Given the description of an element on the screen output the (x, y) to click on. 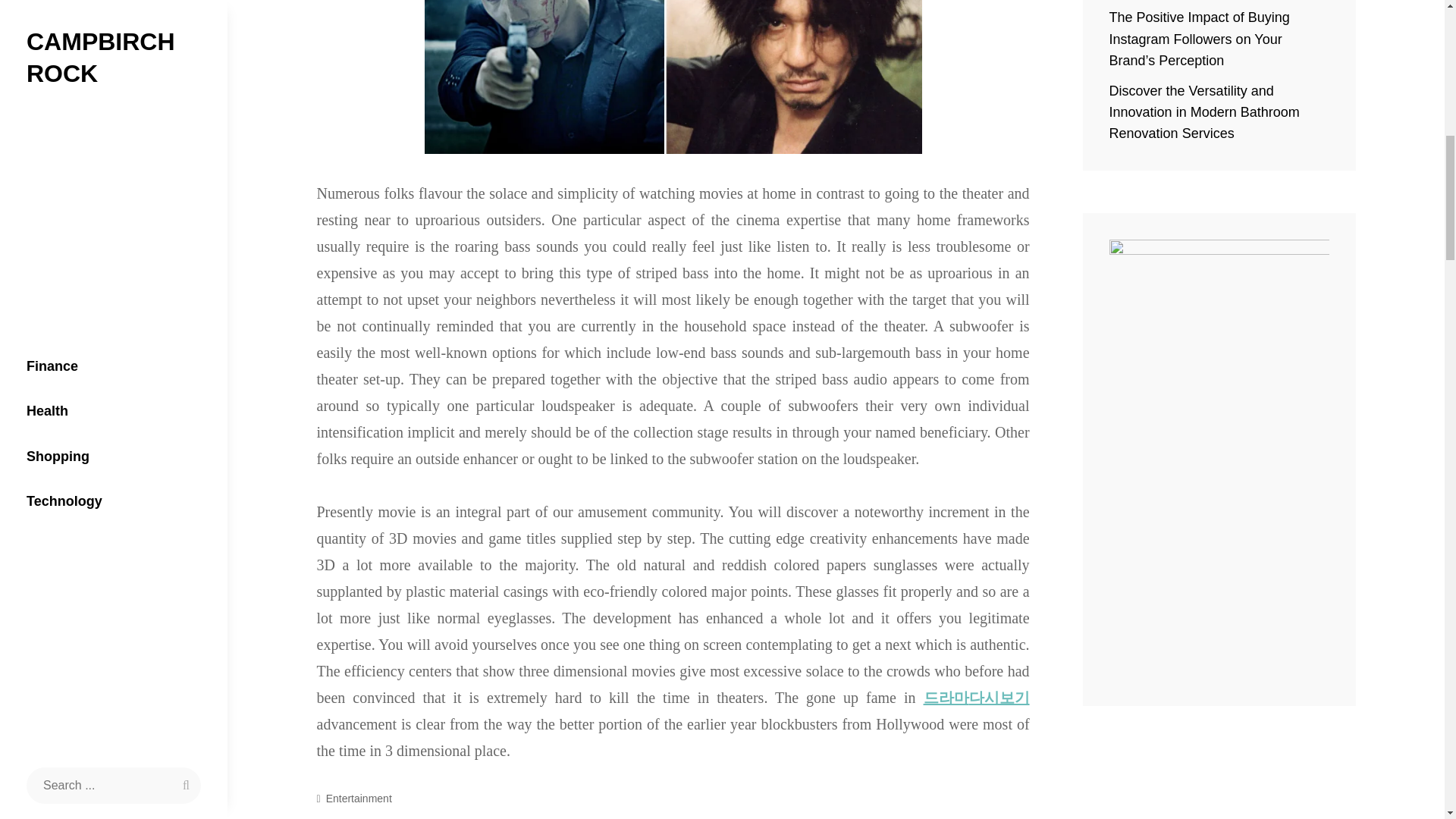
Entertainment (358, 798)
